Given the description of an element on the screen output the (x, y) to click on. 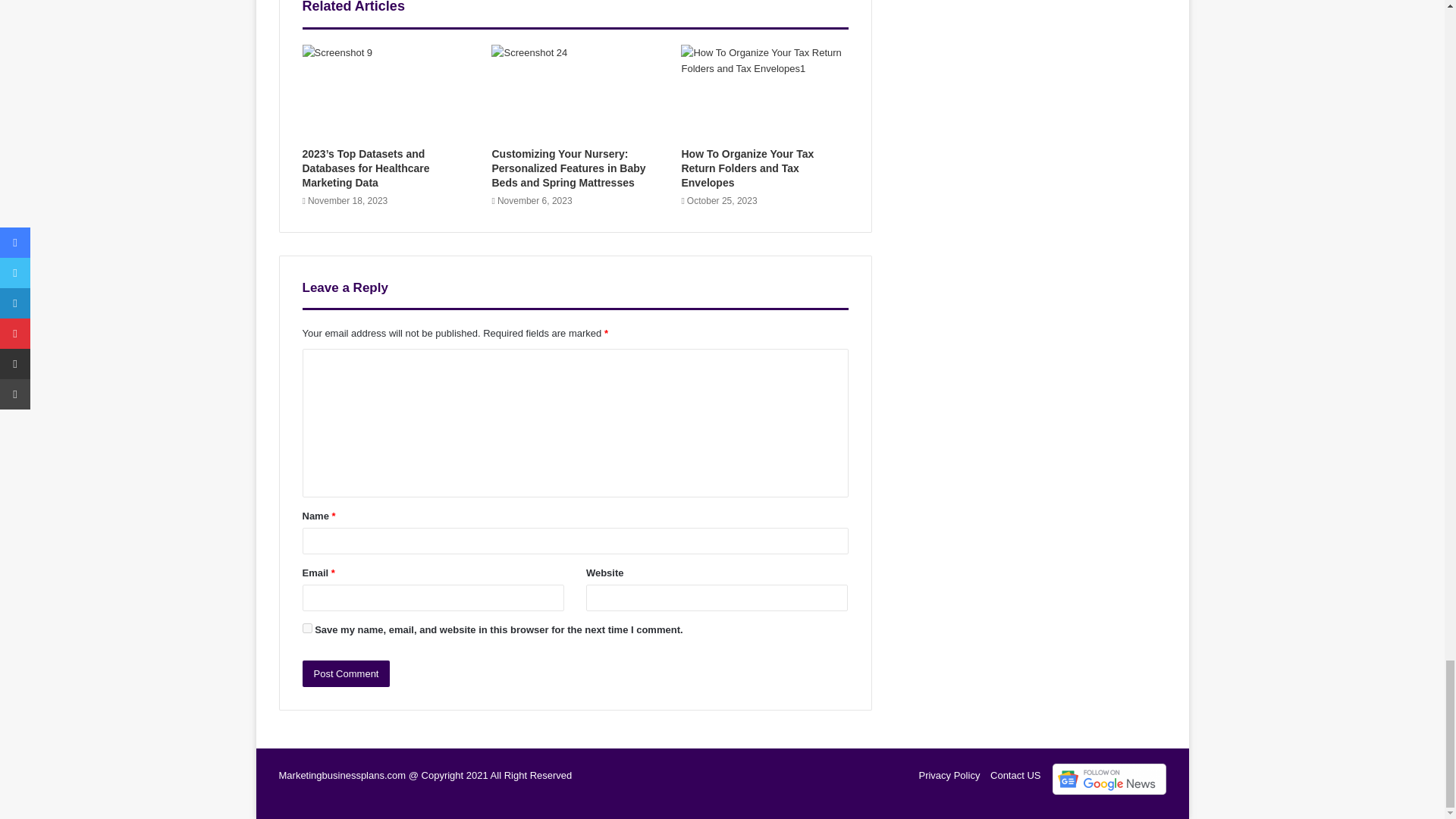
Post Comment (345, 673)
yes (306, 628)
